Given the description of an element on the screen output the (x, y) to click on. 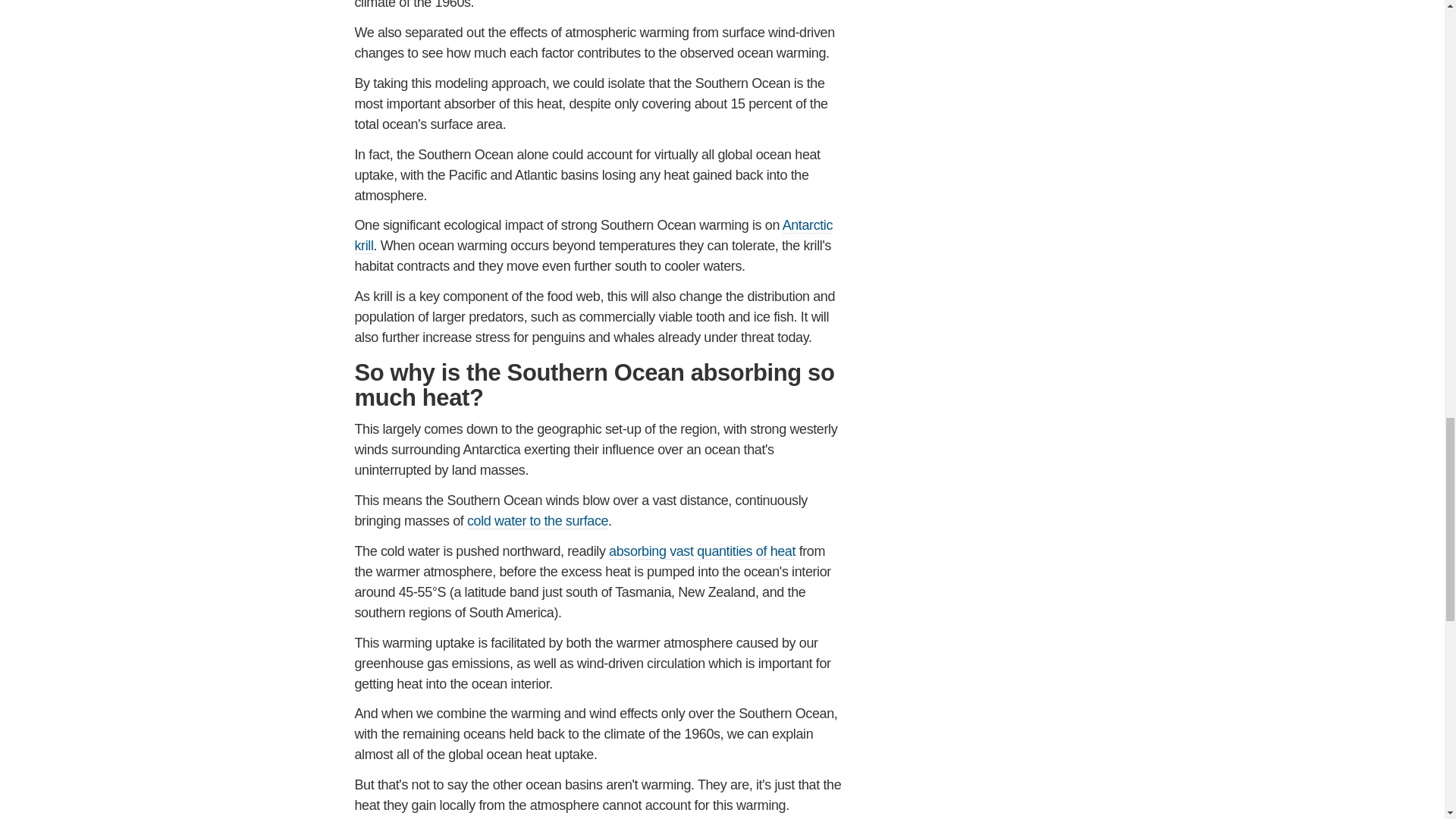
cold water to the surface (537, 521)
absorbing vast quantities of heat (701, 551)
Antarctic krill (593, 235)
